Given the description of an element on the screen output the (x, y) to click on. 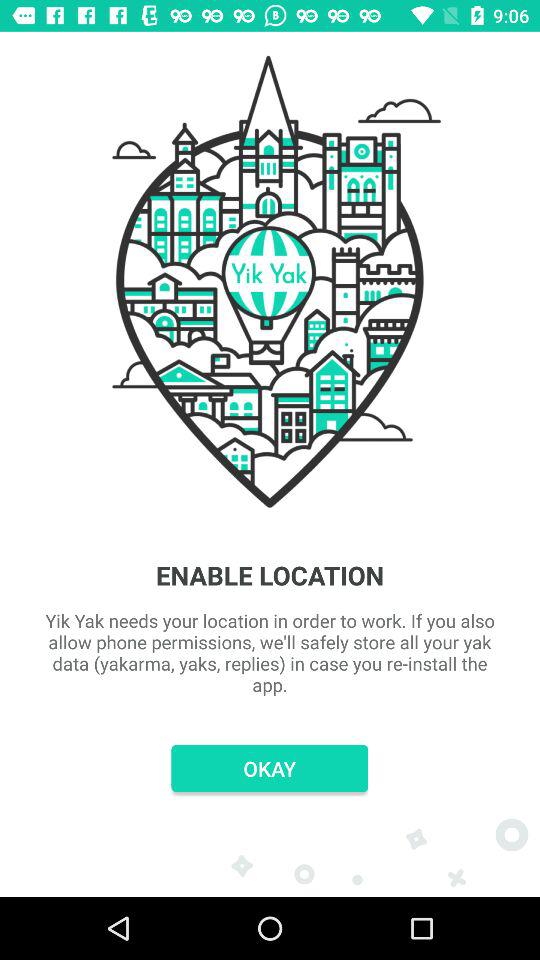
turn off okay (269, 767)
